Given the description of an element on the screen output the (x, y) to click on. 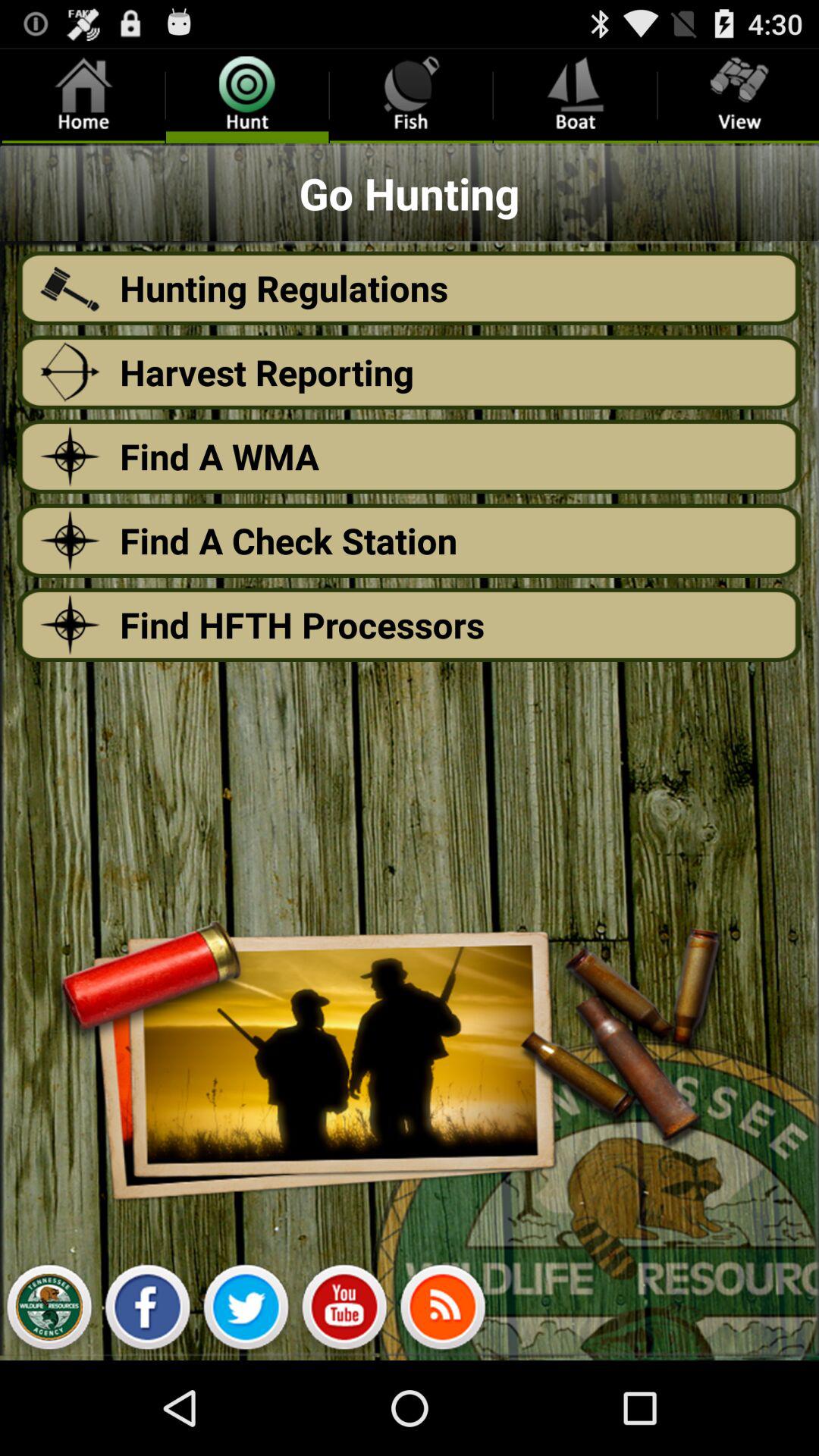
play through facebook login (147, 1311)
